Given the description of an element on the screen output the (x, y) to click on. 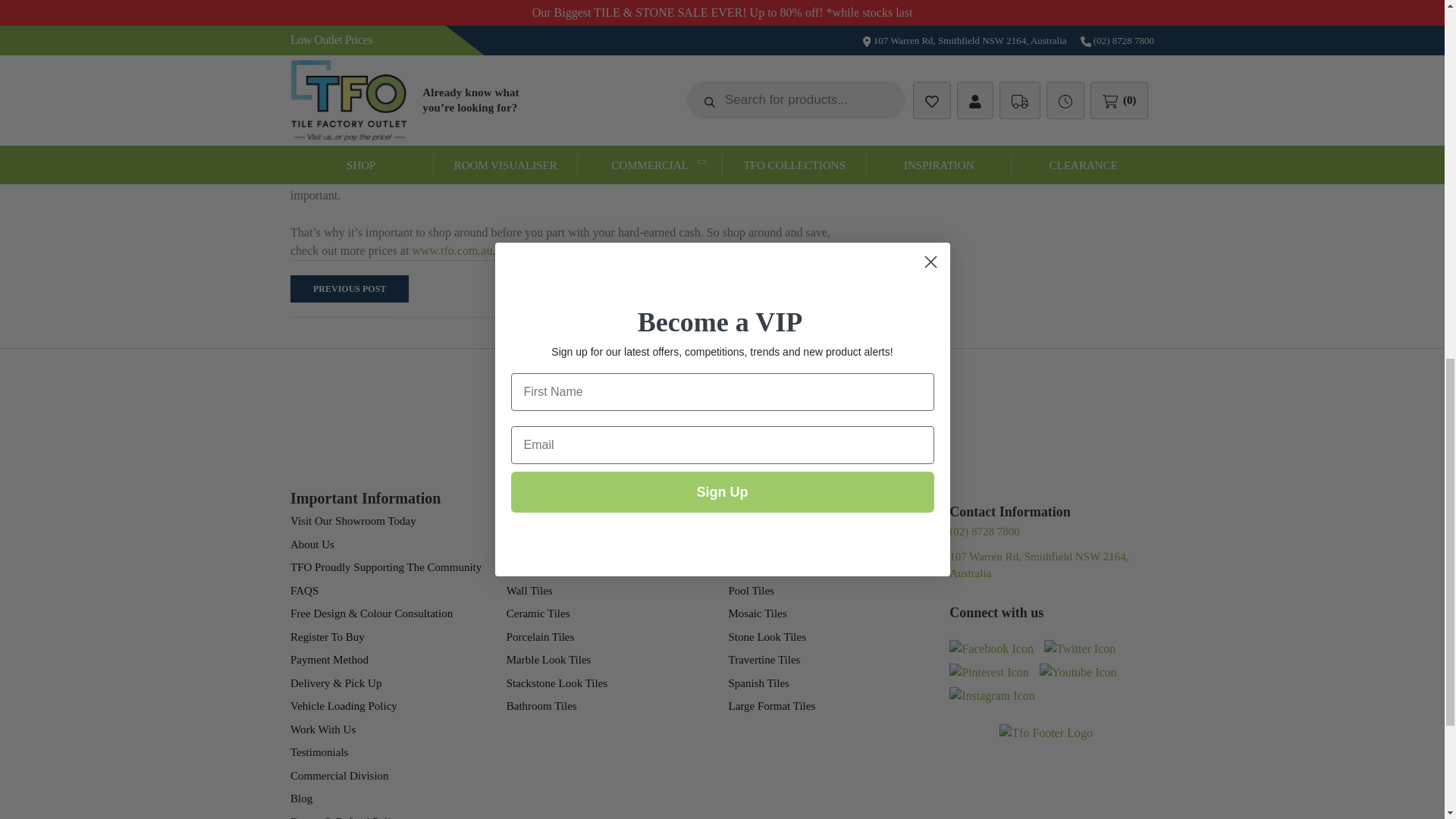
Bathroom Tiles (324, 30)
TFO (452, 250)
